Given the description of an element on the screen output the (x, y) to click on. 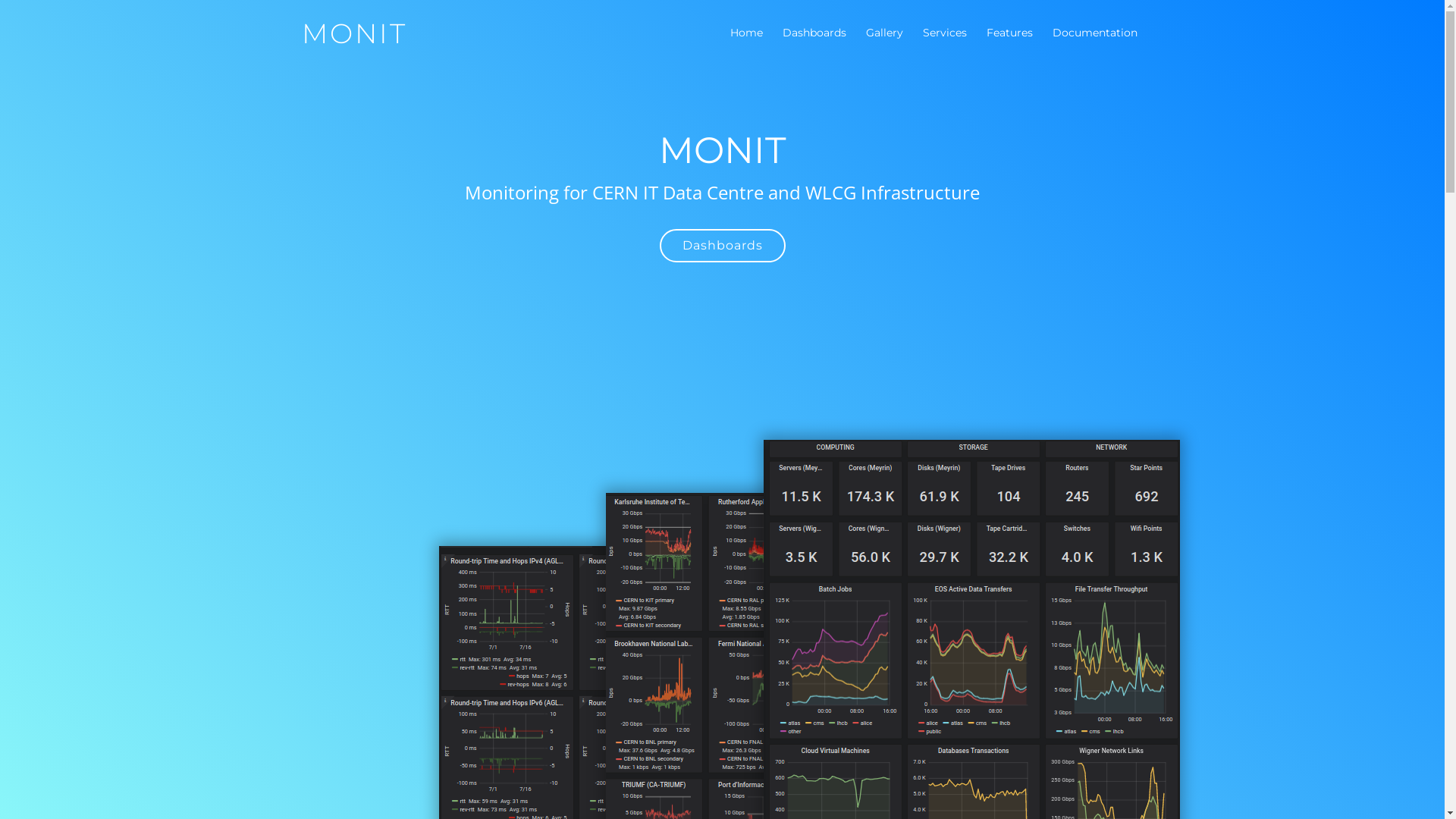
Dashboards Element type: text (722, 245)
MONIT Element type: text (354, 33)
Dashboards Element type: text (814, 36)
Features Element type: text (1008, 36)
Home Element type: text (745, 36)
Services Element type: text (944, 36)
Gallery Element type: text (884, 36)
Documentation Element type: text (1094, 36)
